Given the description of an element on the screen output the (x, y) to click on. 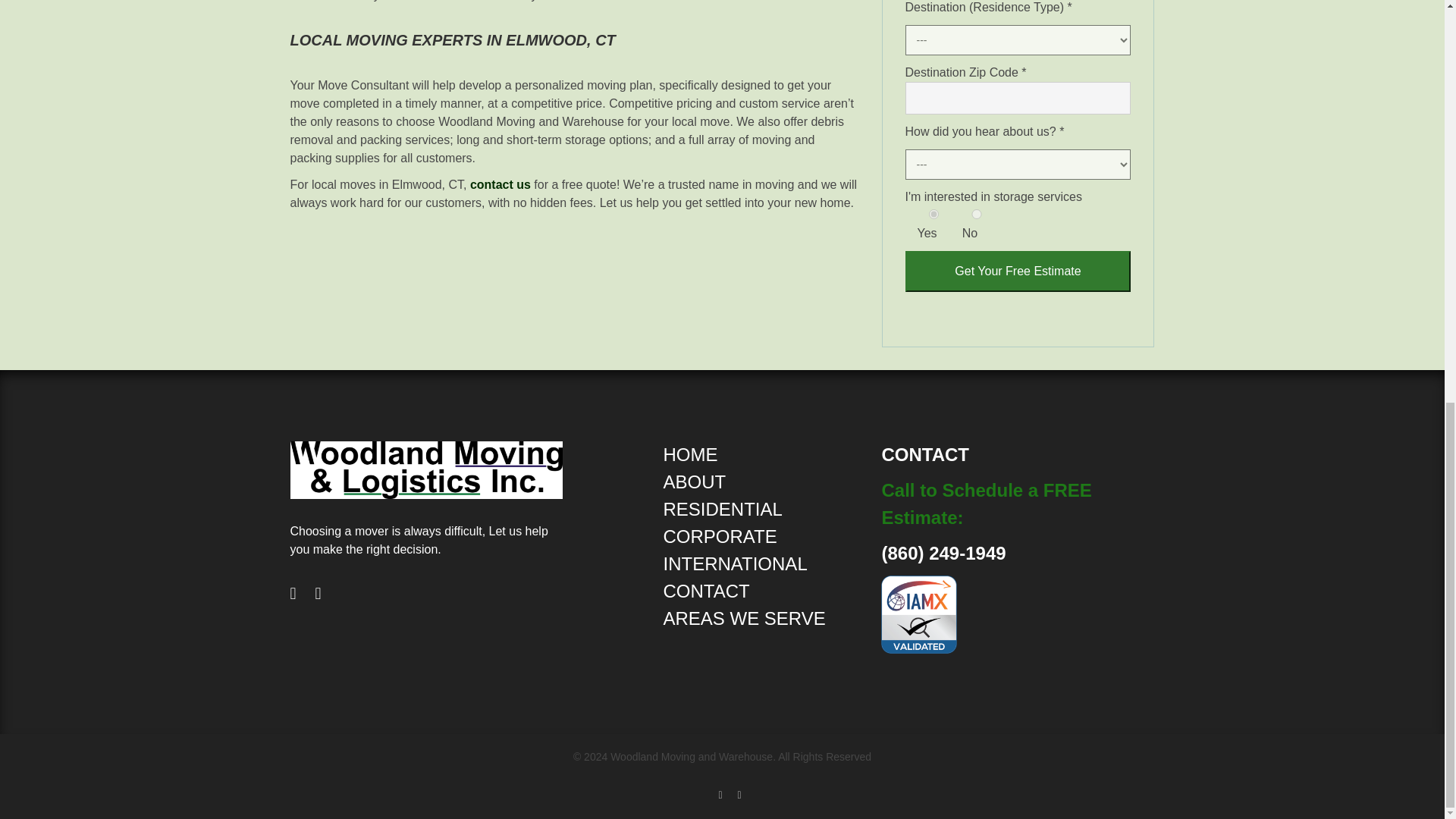
Yes (933, 214)
No (976, 214)
contact us (500, 184)
Get Your Free Estimate (1018, 270)
